Given the description of an element on the screen output the (x, y) to click on. 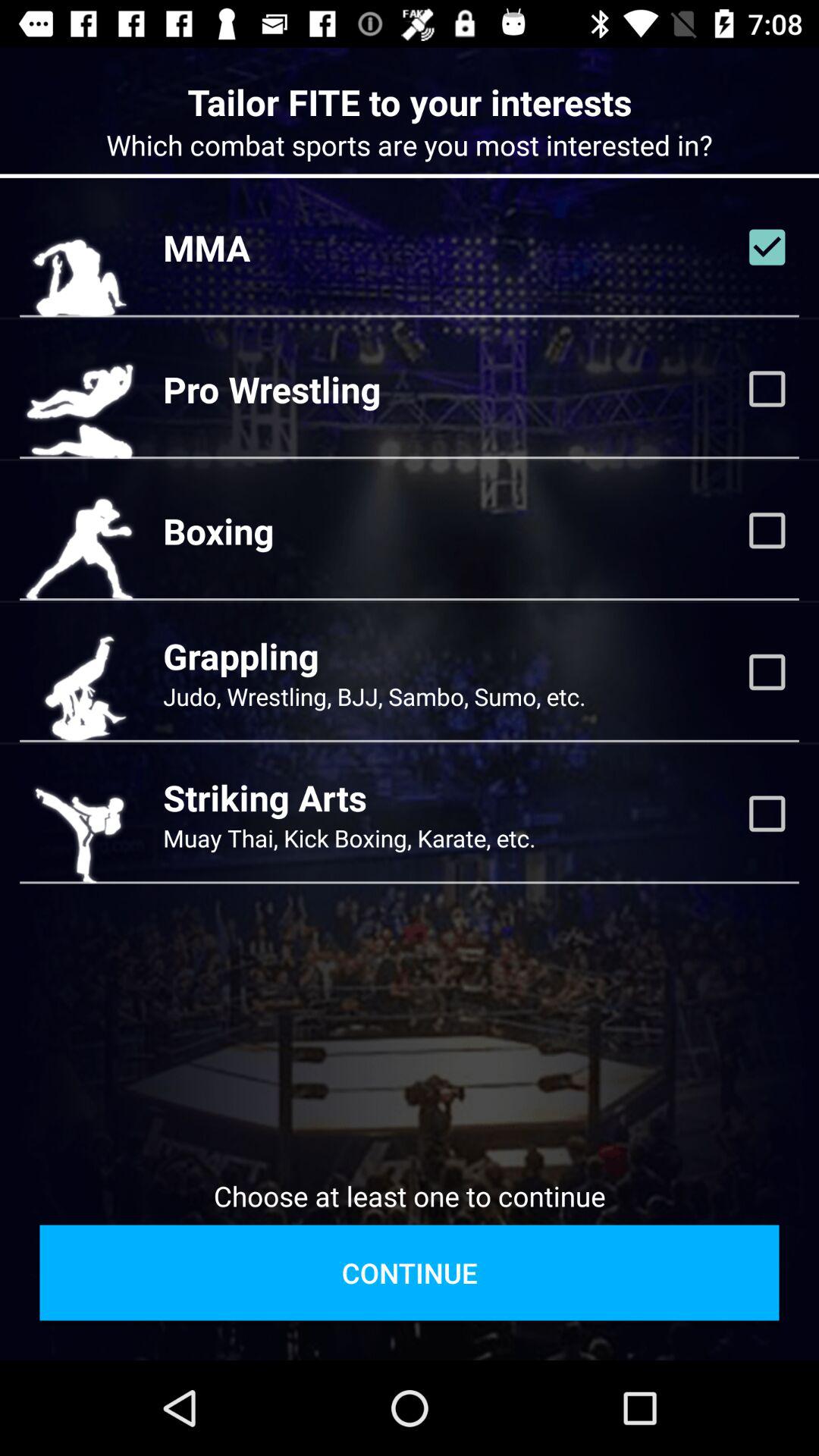
select this interest (767, 388)
